Given the description of an element on the screen output the (x, y) to click on. 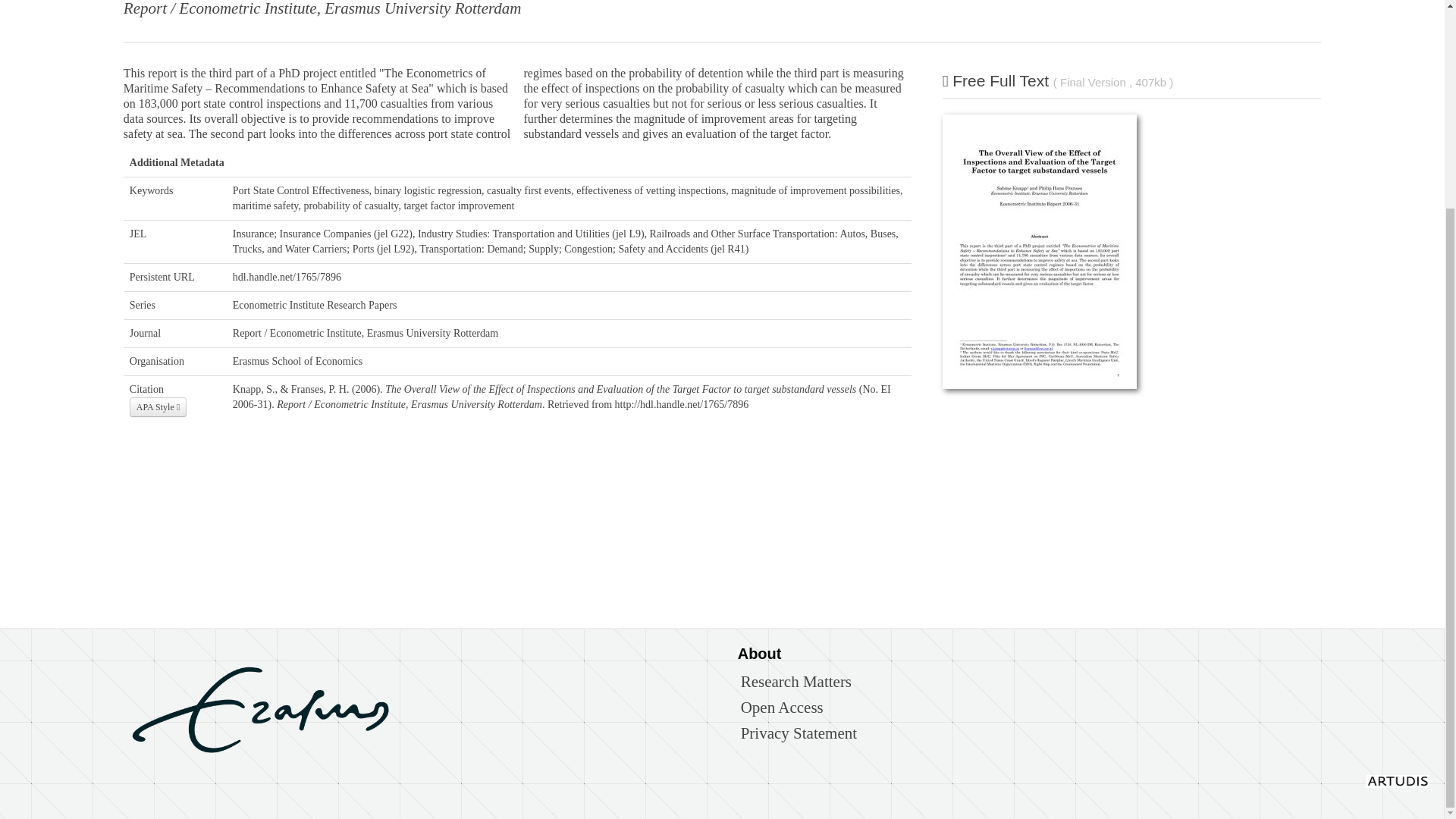
APA Style (157, 406)
Econometric Institute Research Papers (314, 305)
Erasmus School of Economics (297, 360)
